Given the description of an element on the screen output the (x, y) to click on. 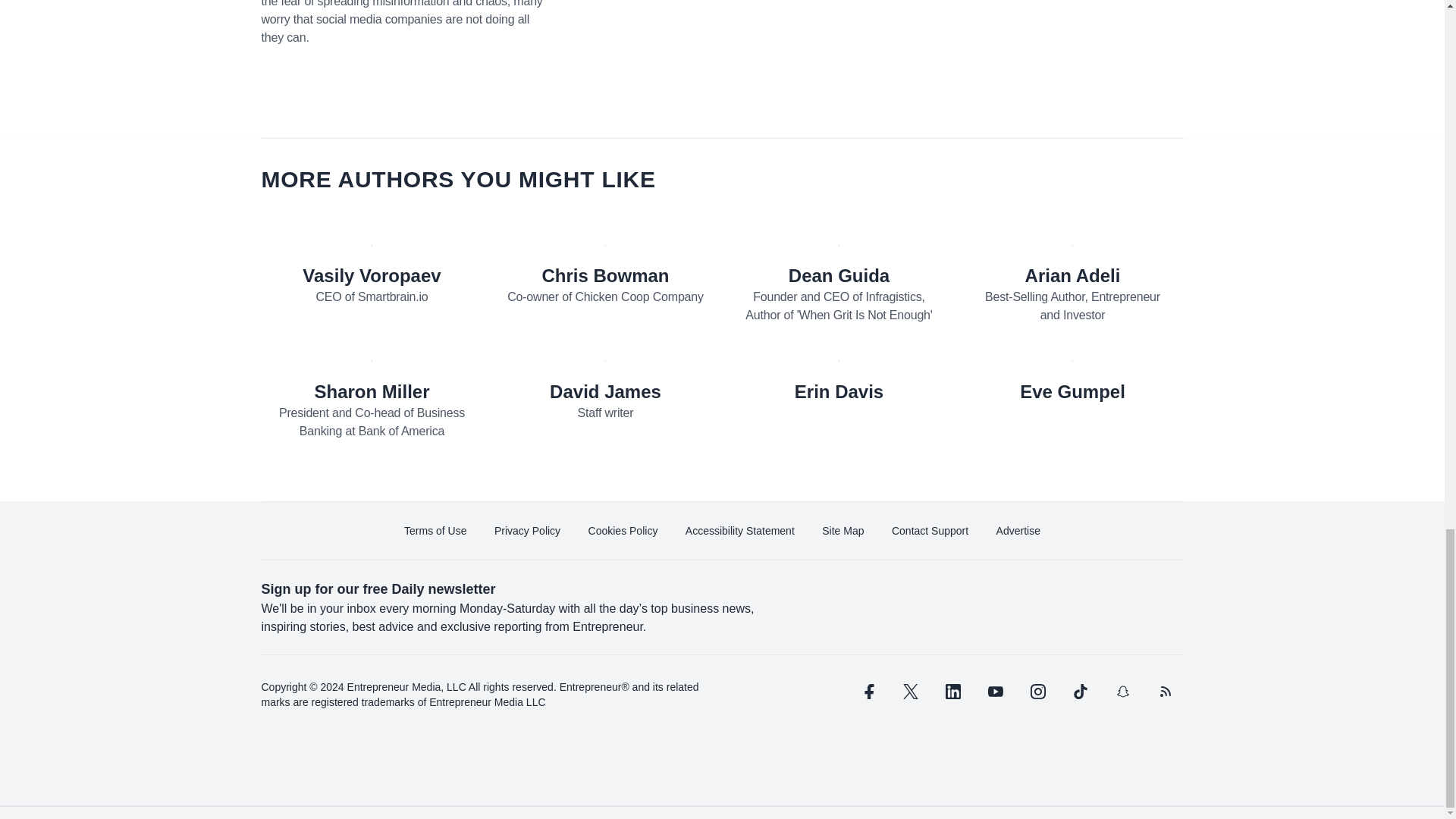
youtube (994, 691)
twitter (909, 691)
facebook (866, 691)
linkedin (952, 691)
